Given the description of an element on the screen output the (x, y) to click on. 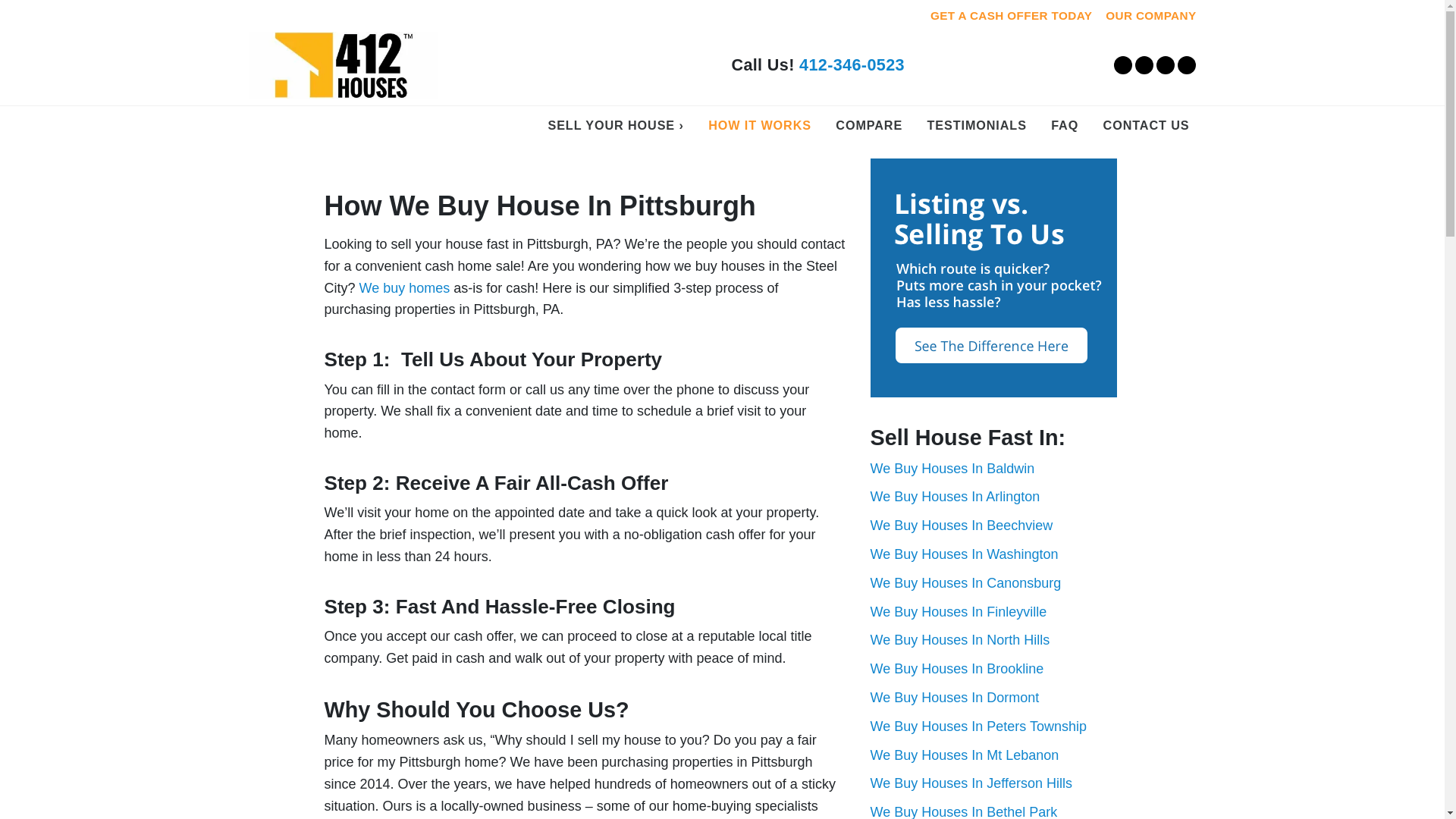
HOW IT WORKS (759, 125)
We Buy Houses In Canonsburg (965, 582)
We Buy Houses In Finleyville (958, 611)
Facebook (1144, 65)
OUR COMPANY (1150, 15)
Instagram (1186, 65)
YouTube (1165, 65)
We Buy Houses In Dormont (954, 697)
We buy homes (404, 287)
Contact Us (1146, 125)
